Given the description of an element on the screen output the (x, y) to click on. 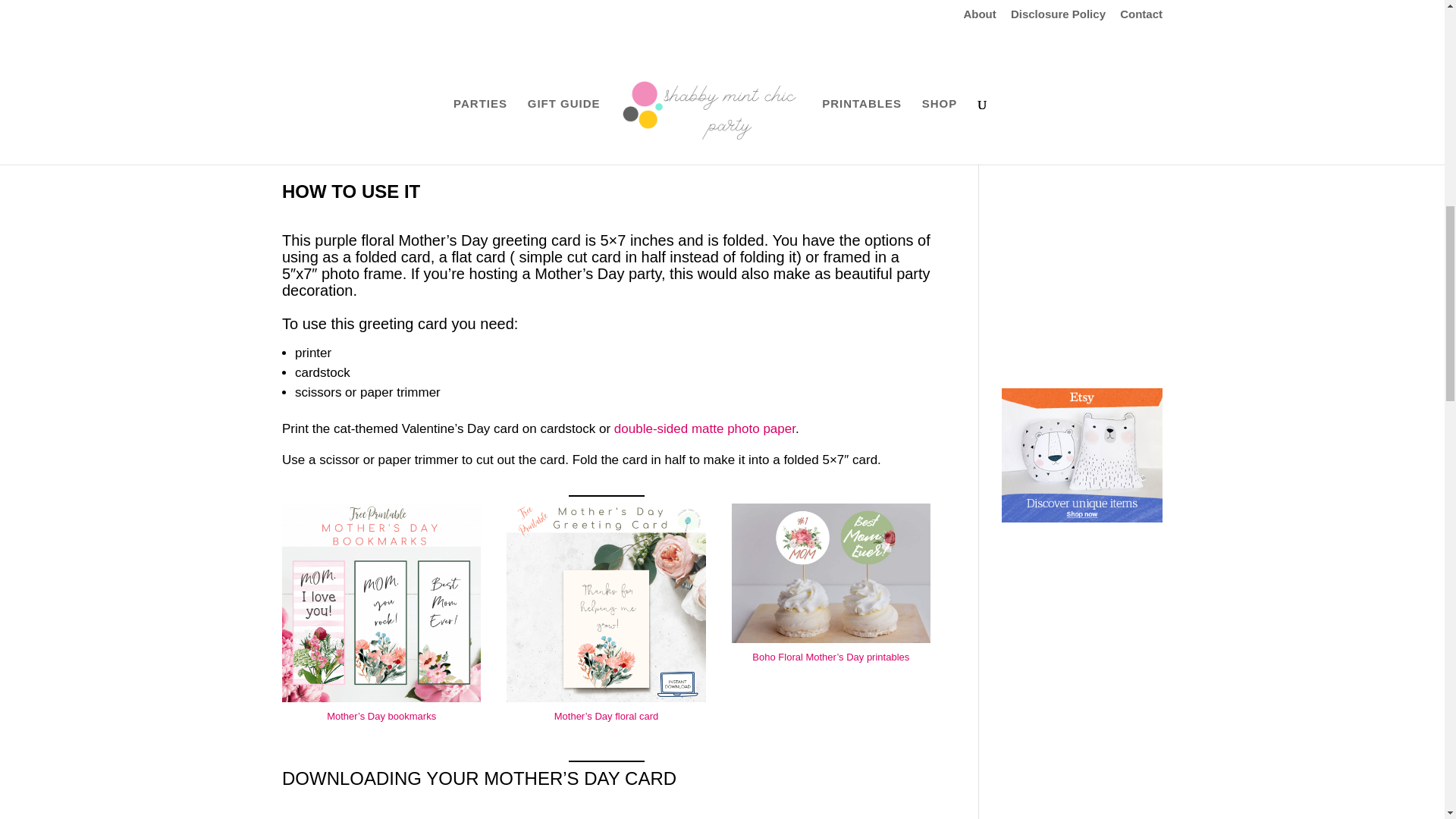
double-sided matte photo paper (704, 428)
Advertisement (1096, 266)
